Given the description of an element on the screen output the (x, y) to click on. 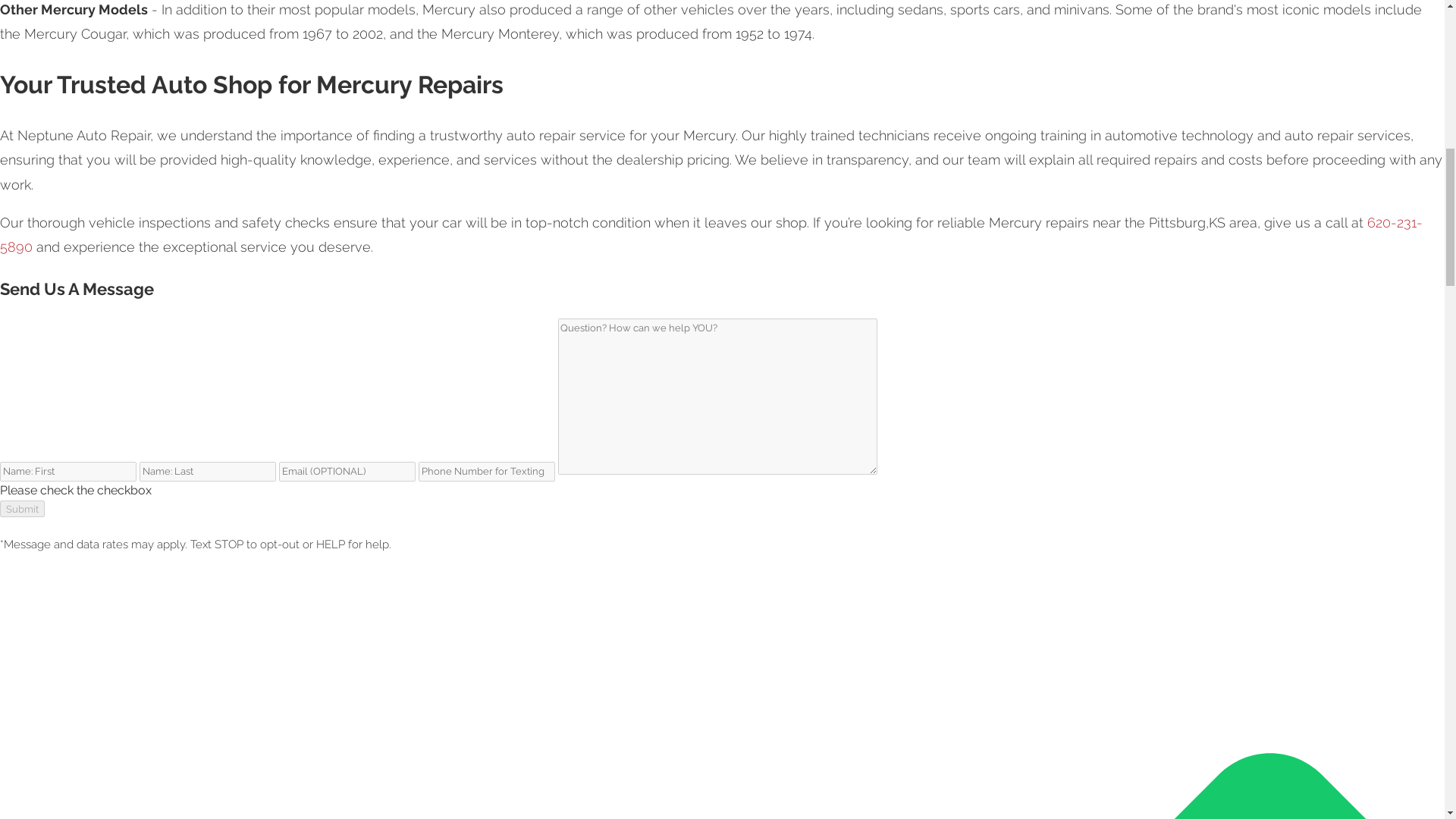
Submit (22, 508)
